Given the description of an element on the screen output the (x, y) to click on. 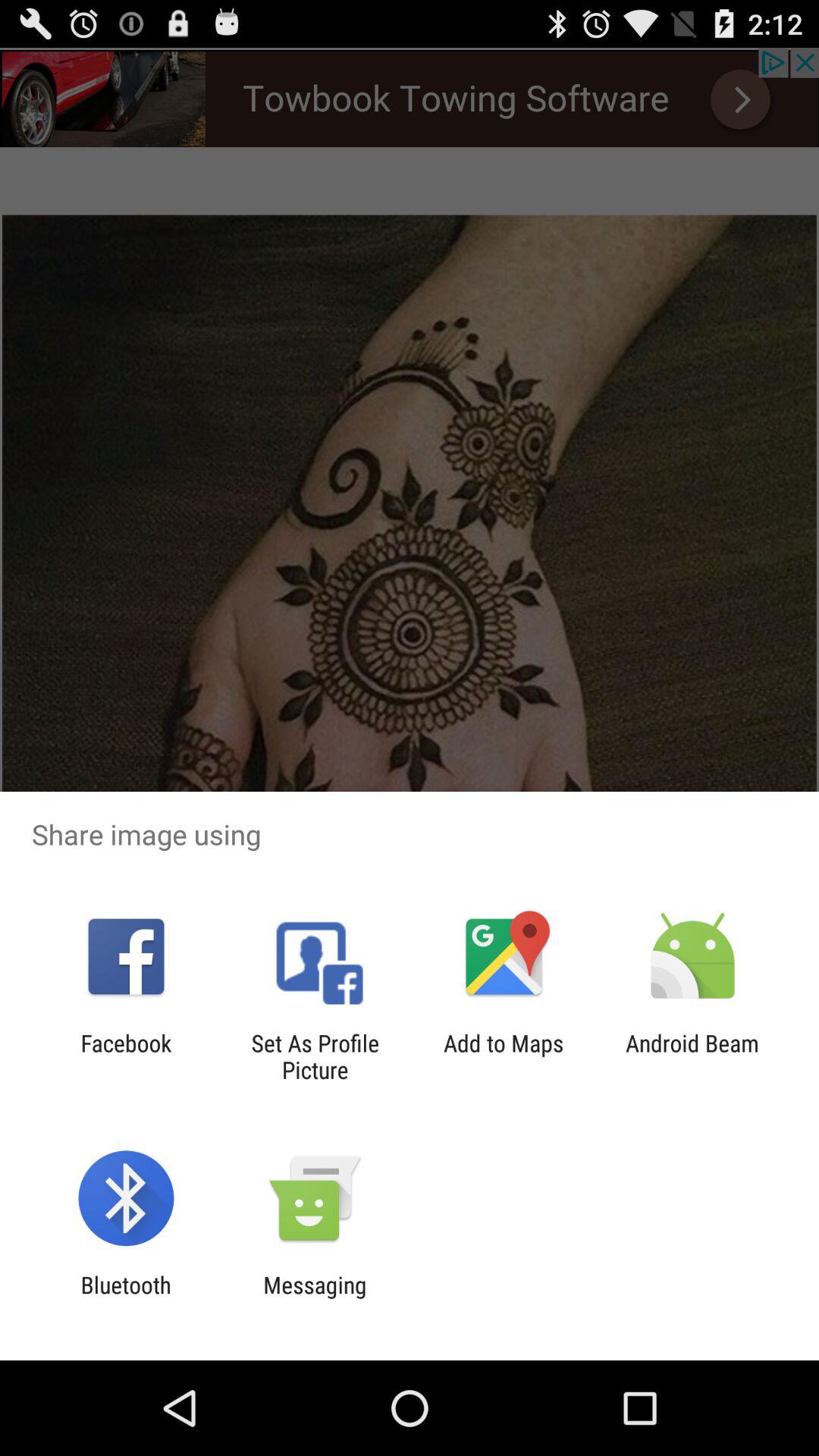
flip to bluetooth item (125, 1298)
